Given the description of an element on the screen output the (x, y) to click on. 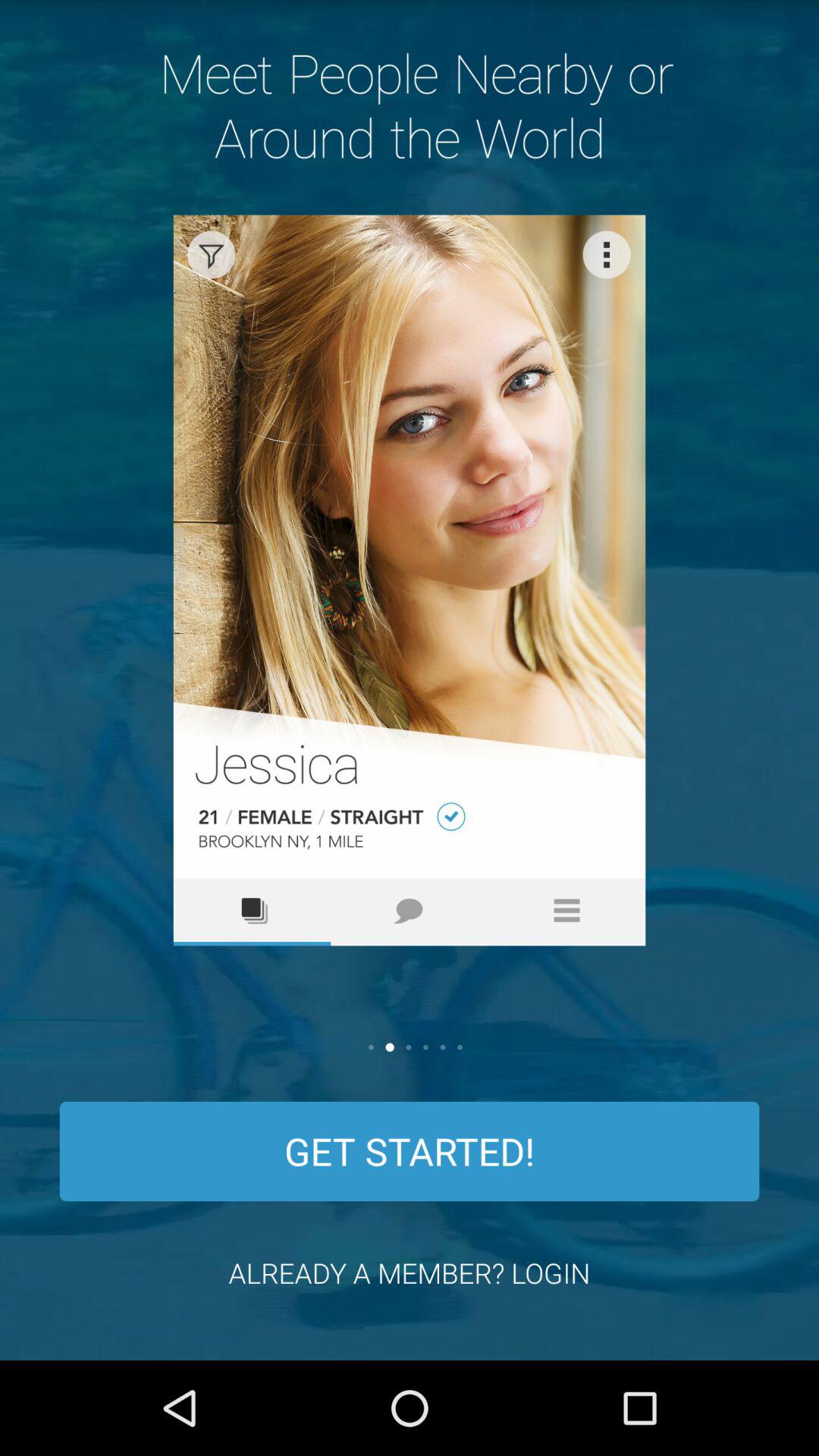
swipe to already a member button (409, 1272)
